Given the description of an element on the screen output the (x, y) to click on. 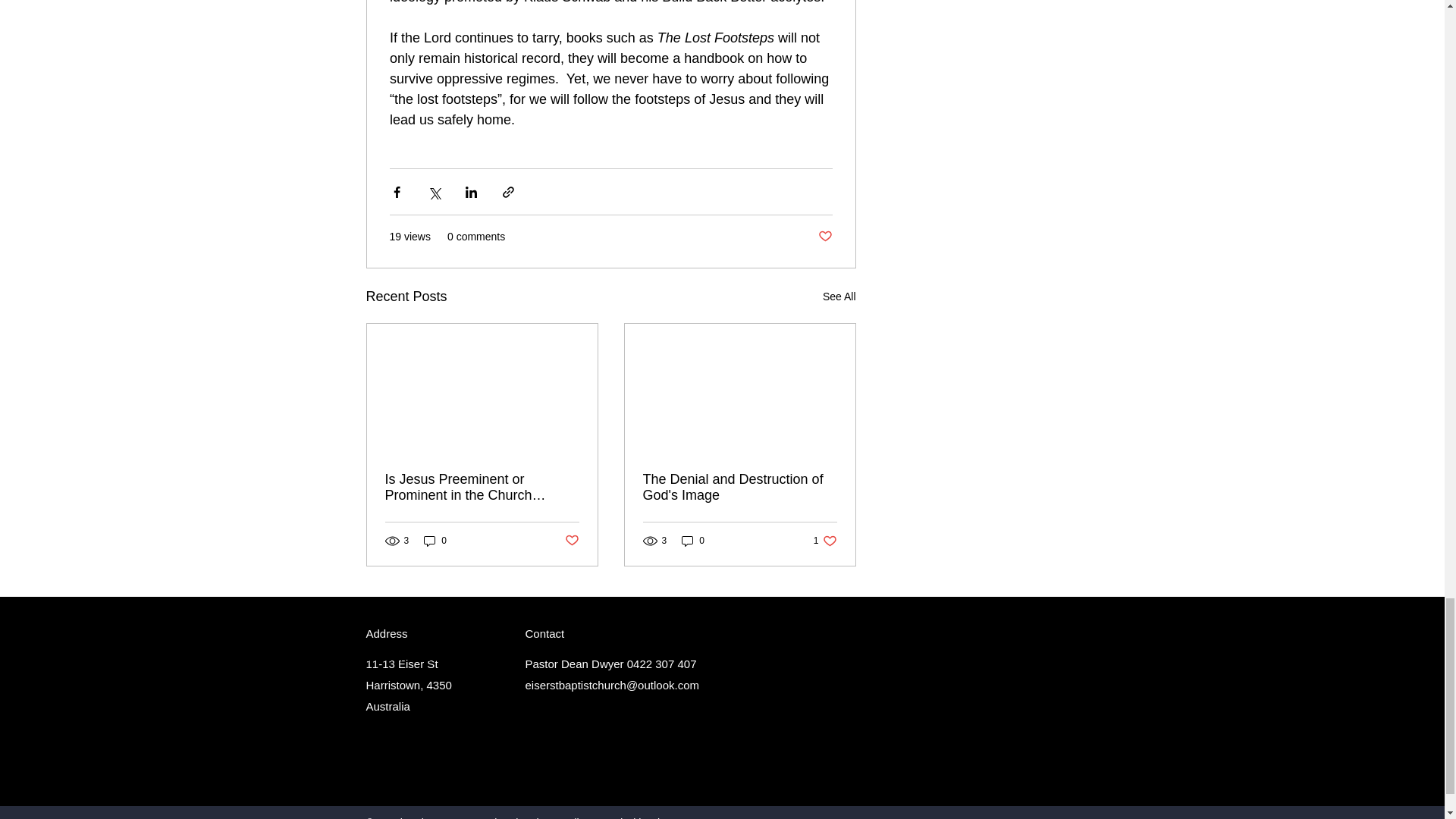
0 (692, 540)
See All (839, 296)
0 (435, 540)
The Denial and Destruction of God's Image (740, 487)
Is Jesus Preeminent or Prominent in the Church Today? (482, 487)
Post not marked as liked (571, 539)
Post not marked as liked (825, 540)
